Given the description of an element on the screen output the (x, y) to click on. 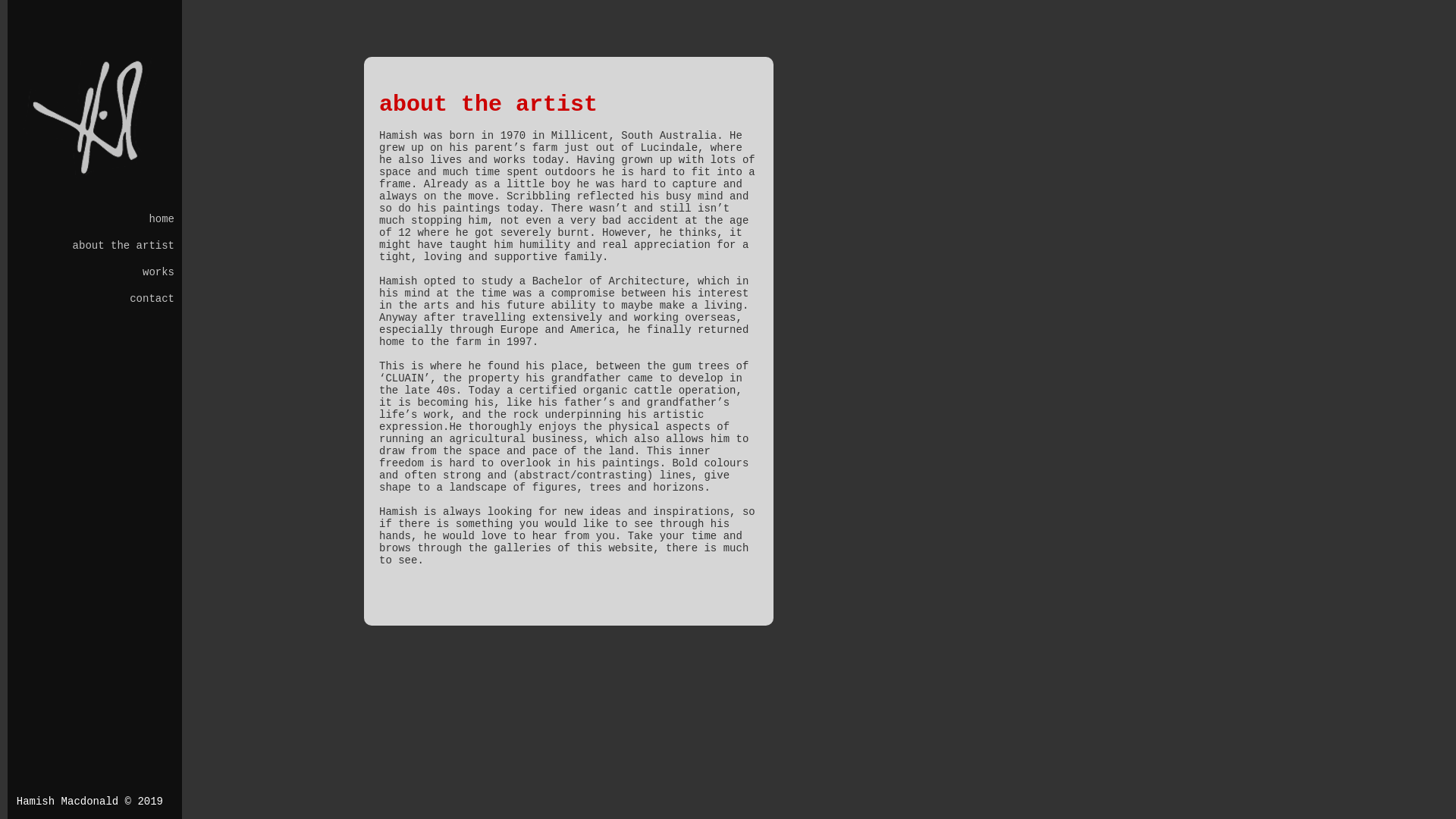
Hamish Macdonald Home Page Element type: hover (94, 175)
contact Element type: text (94, 299)
home Element type: text (94, 219)
about the artist Element type: text (94, 246)
works Element type: text (94, 272)
